Given the description of an element on the screen output the (x, y) to click on. 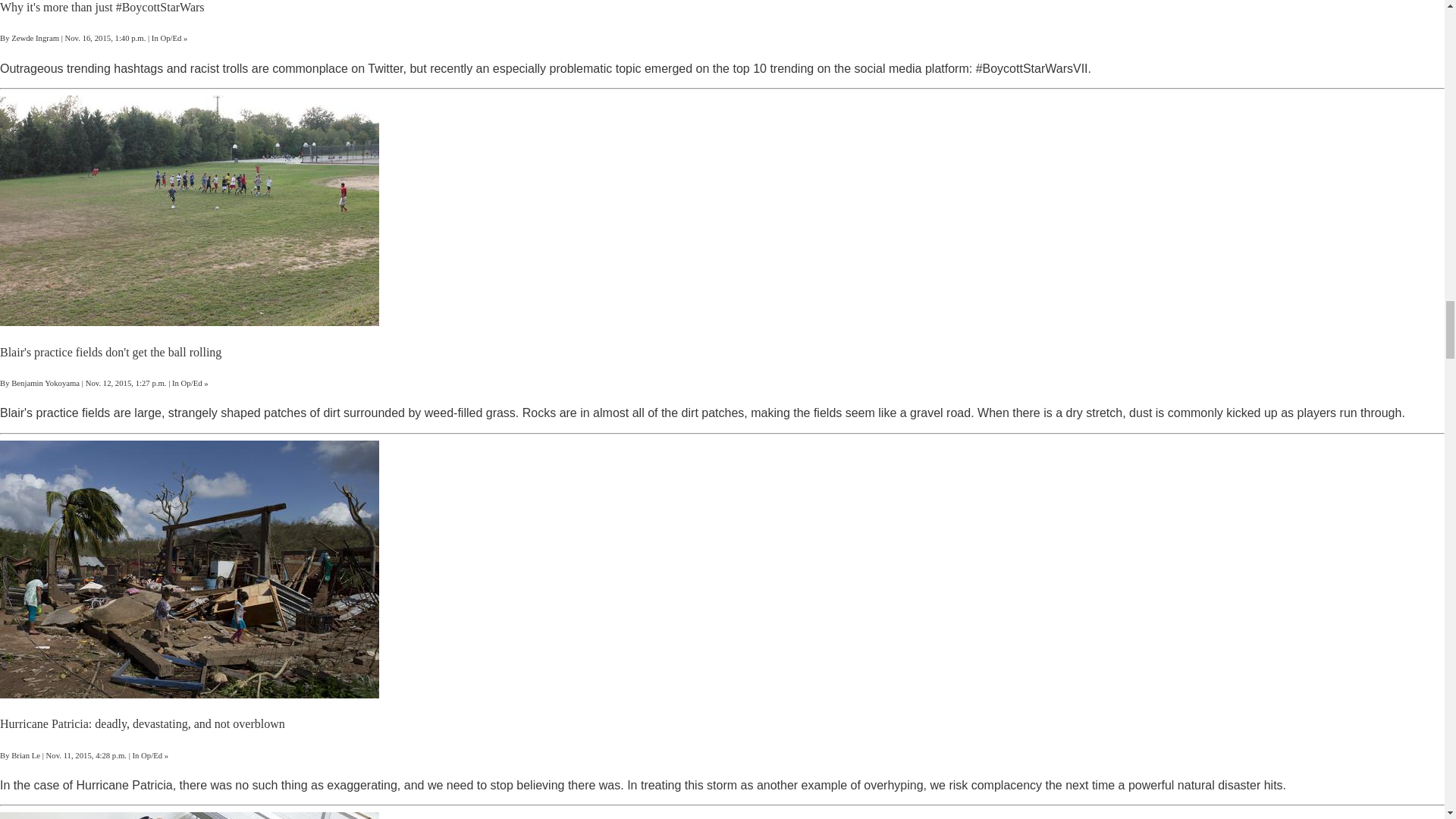
Zewde Ingram (35, 37)
